Given the description of an element on the screen output the (x, y) to click on. 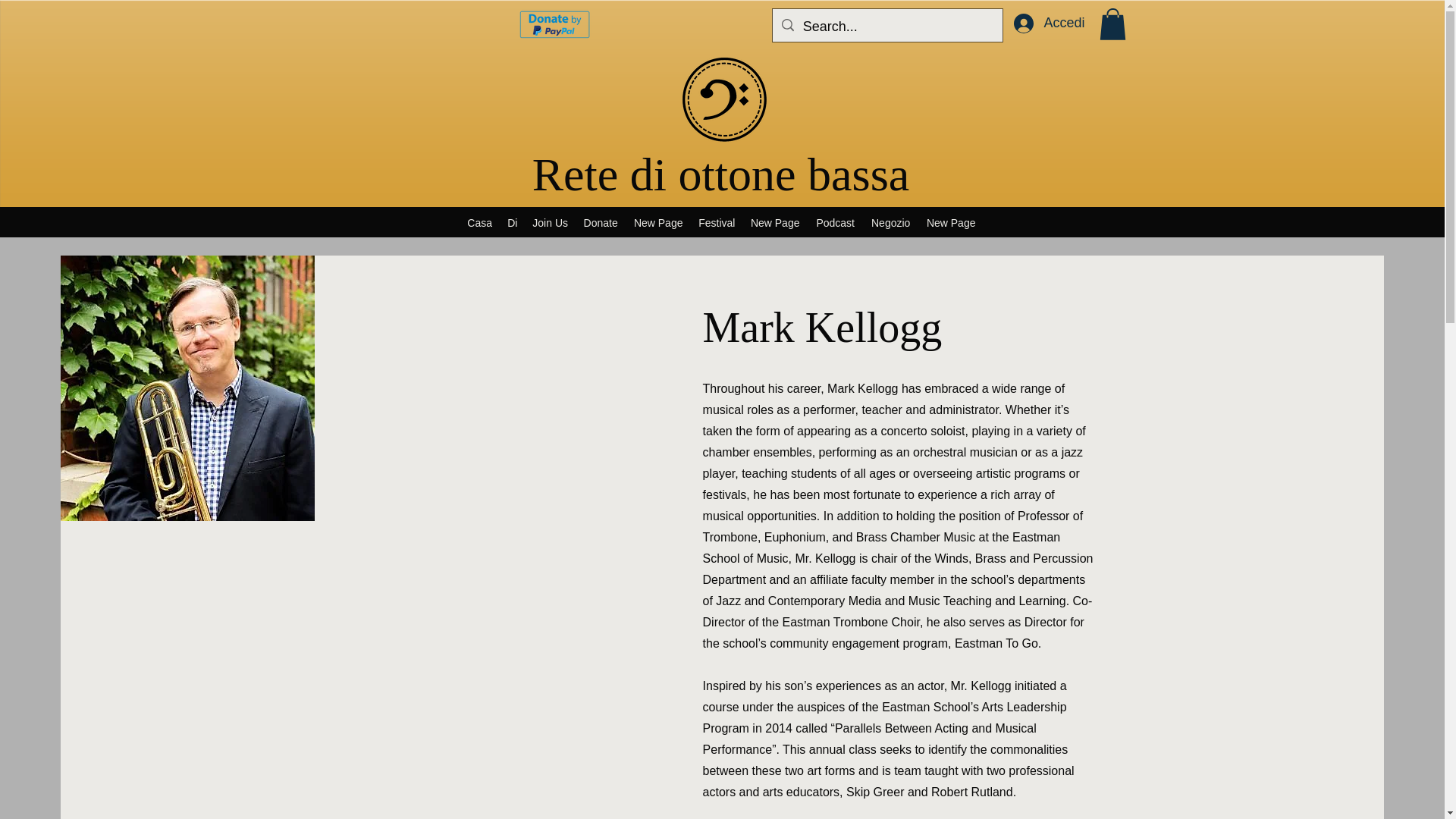
Accedi (1048, 23)
Casa (479, 222)
Join Us (549, 222)
Donate (600, 222)
Festival (716, 222)
Negozio (890, 222)
New Page (775, 222)
New Page (951, 222)
Rete di ottone bassa (721, 173)
New Page (658, 222)
Di (511, 222)
Podcast (835, 222)
